Given the description of an element on the screen output the (x, y) to click on. 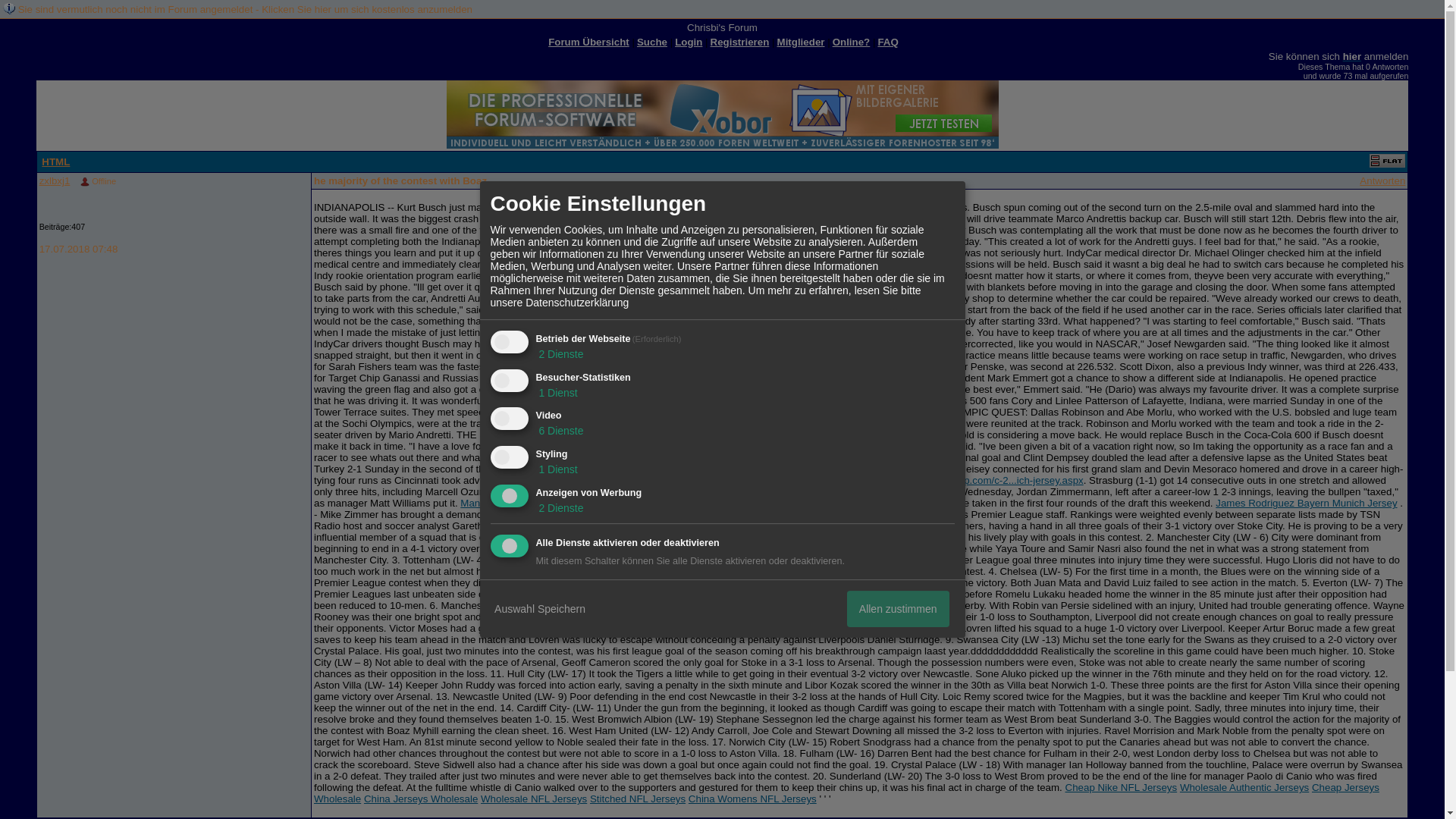
Wholesale Authentic Jerseys (1243, 787)
China Jerseys Wholesale (420, 798)
hier (1351, 56)
Registrieren (740, 41)
Wholesale NFL Jerseys (533, 798)
China Womens NFL Jerseys (752, 798)
Cheap Jerseys Wholesale (846, 793)
2 Dienste (559, 354)
Erstelle dein eigenes Xobor-Forum (721, 114)
Manuel Neuer Jersey (508, 502)
